Given the description of an element on the screen output the (x, y) to click on. 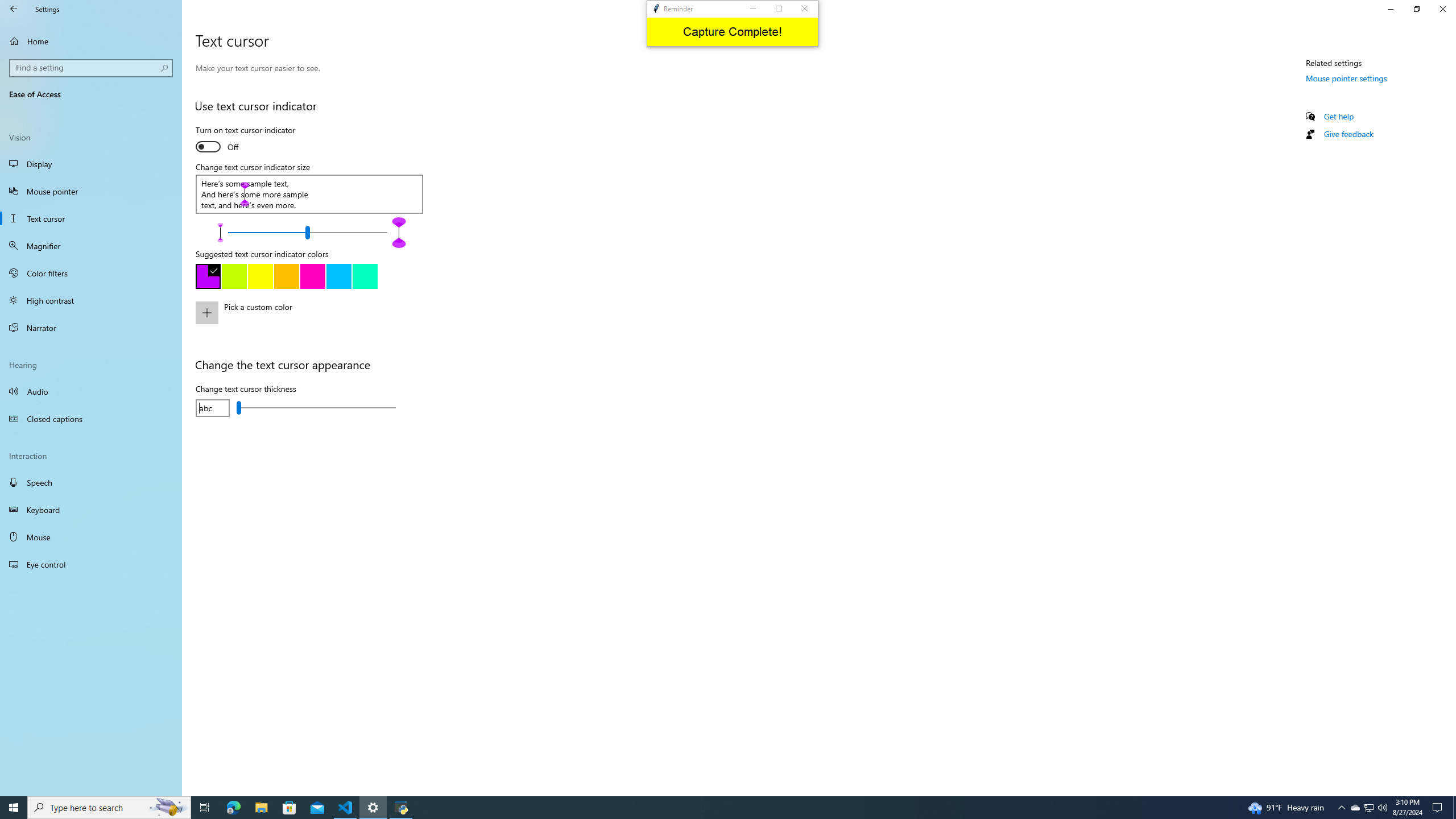
Type here to search (108, 807)
Mouse pointer (91, 190)
Change text cursor thickness (315, 407)
Running applications (717, 807)
Turquoise (338, 276)
File Explorer (261, 807)
Visual Studio Code - 1 running window (345, 807)
Text cursor (91, 217)
Task View (204, 807)
Magnifier (91, 245)
Search highlights icon opens search home window (167, 807)
Color filters (91, 272)
Get help (1338, 116)
